Given the description of an element on the screen output the (x, y) to click on. 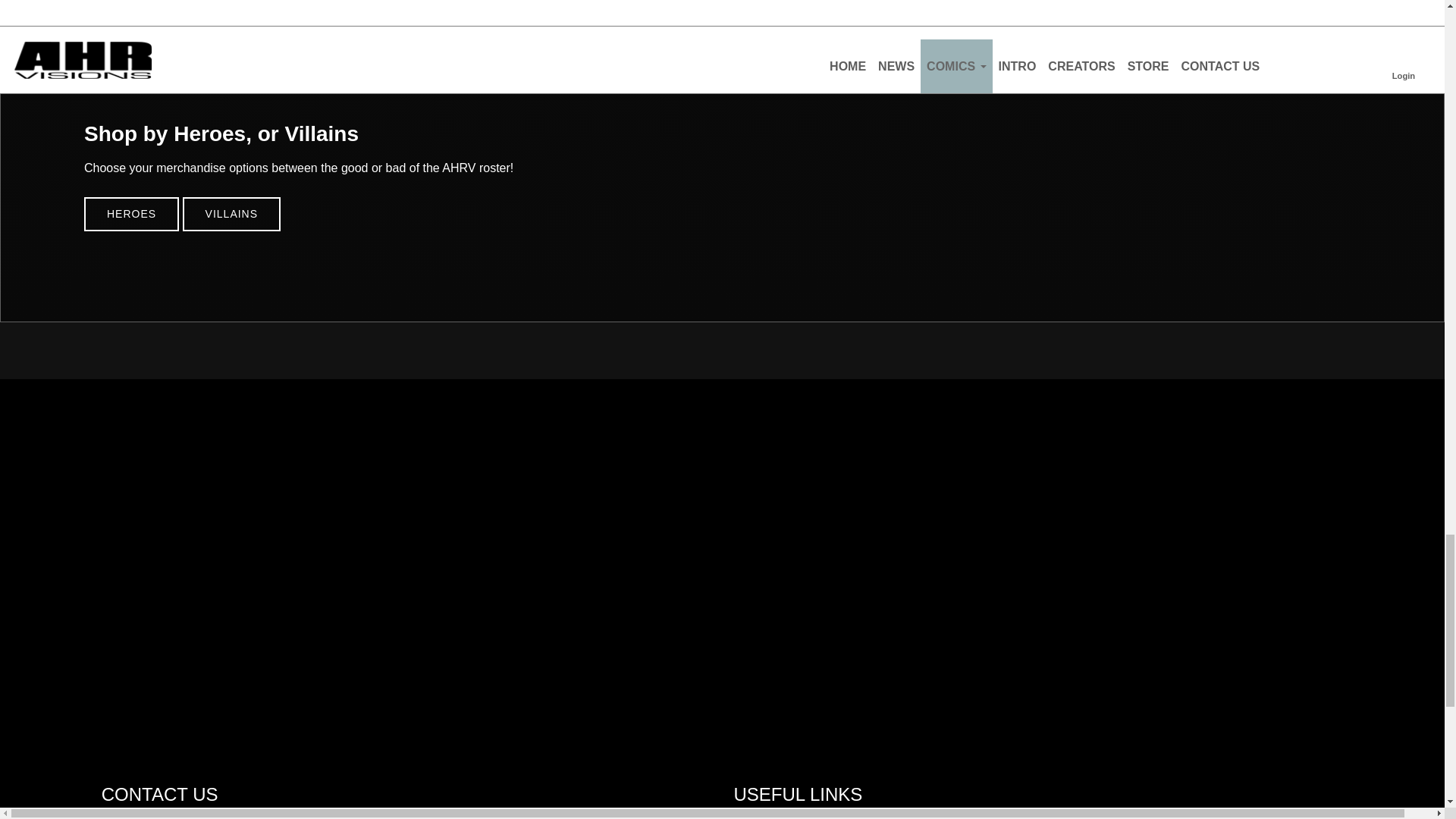
RETURN AND SHIPPING POLICY (858, 816)
VILLAINS (232, 213)
HEROES (131, 213)
